Given the description of an element on the screen output the (x, y) to click on. 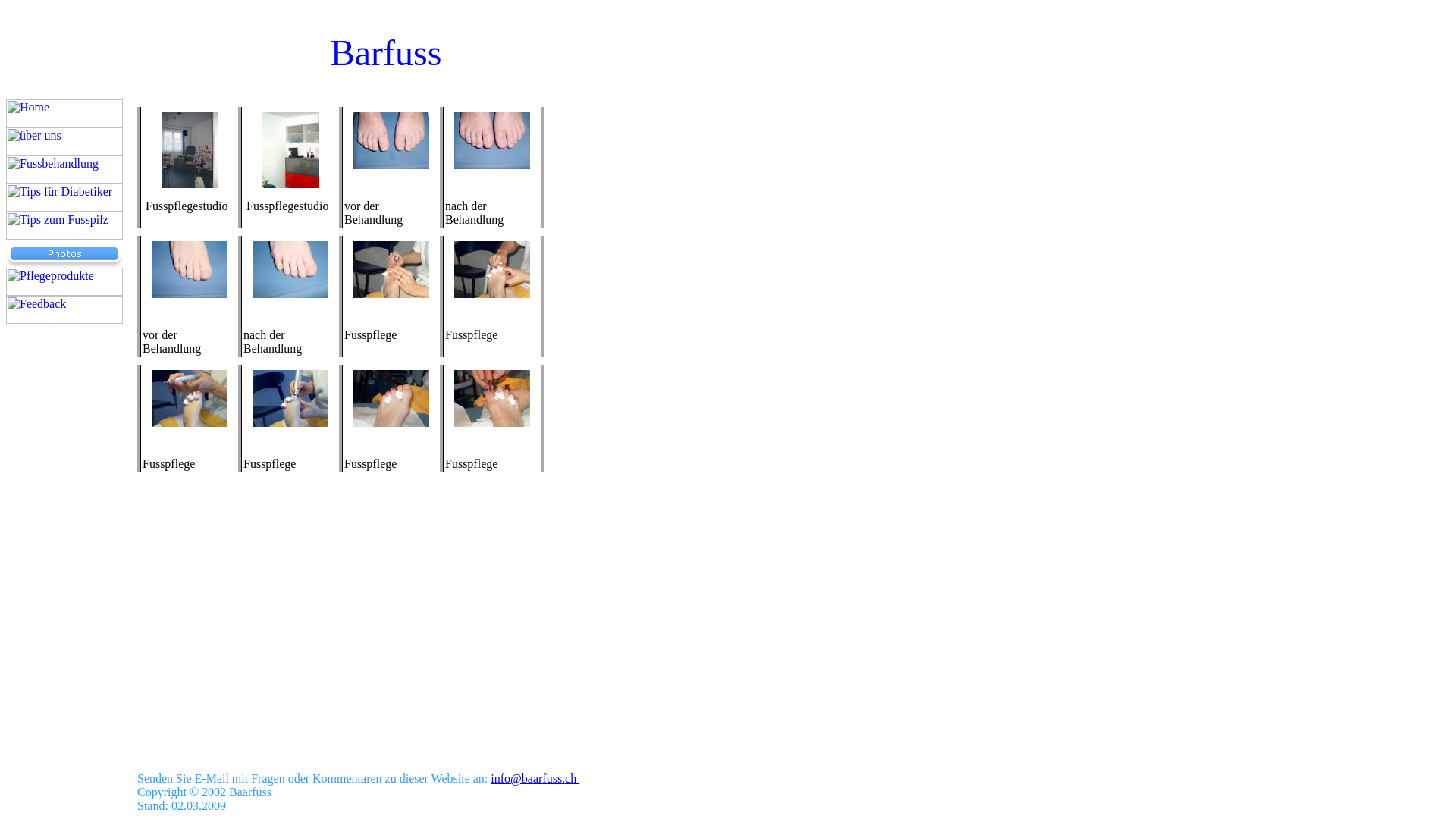
info@baarfuss.ch  Element type: text (534, 777)
